Given the description of an element on the screen output the (x, y) to click on. 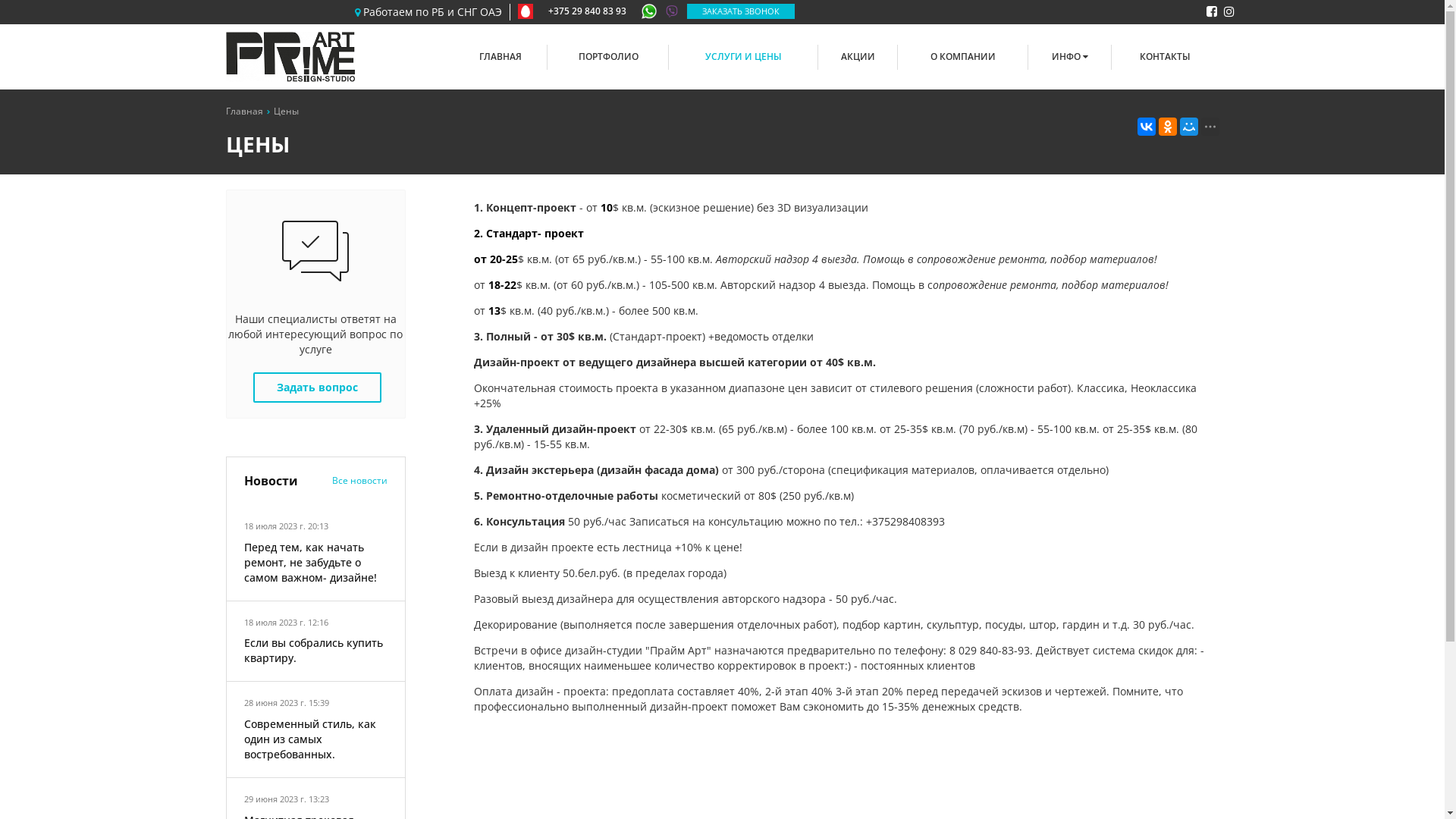
+375 29 840 83 93 Element type: text (597, 10)
